Given the description of an element on the screen output the (x, y) to click on. 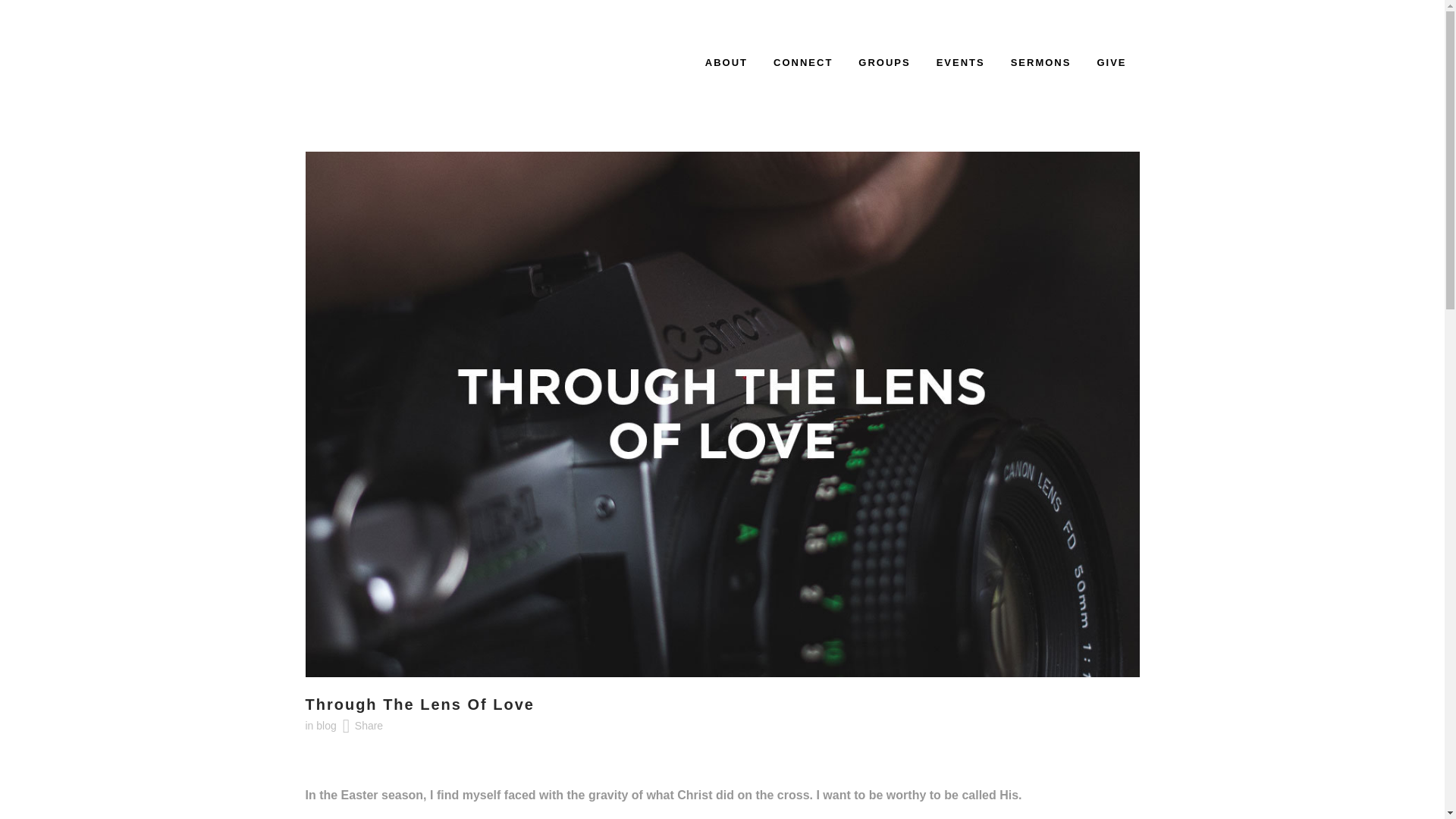
Share (368, 725)
blog (325, 725)
SERMONS (1040, 62)
CONNECT (802, 62)
GROUPS (884, 62)
EVENTS (960, 62)
ABOUT (726, 62)
